Given the description of an element on the screen output the (x, y) to click on. 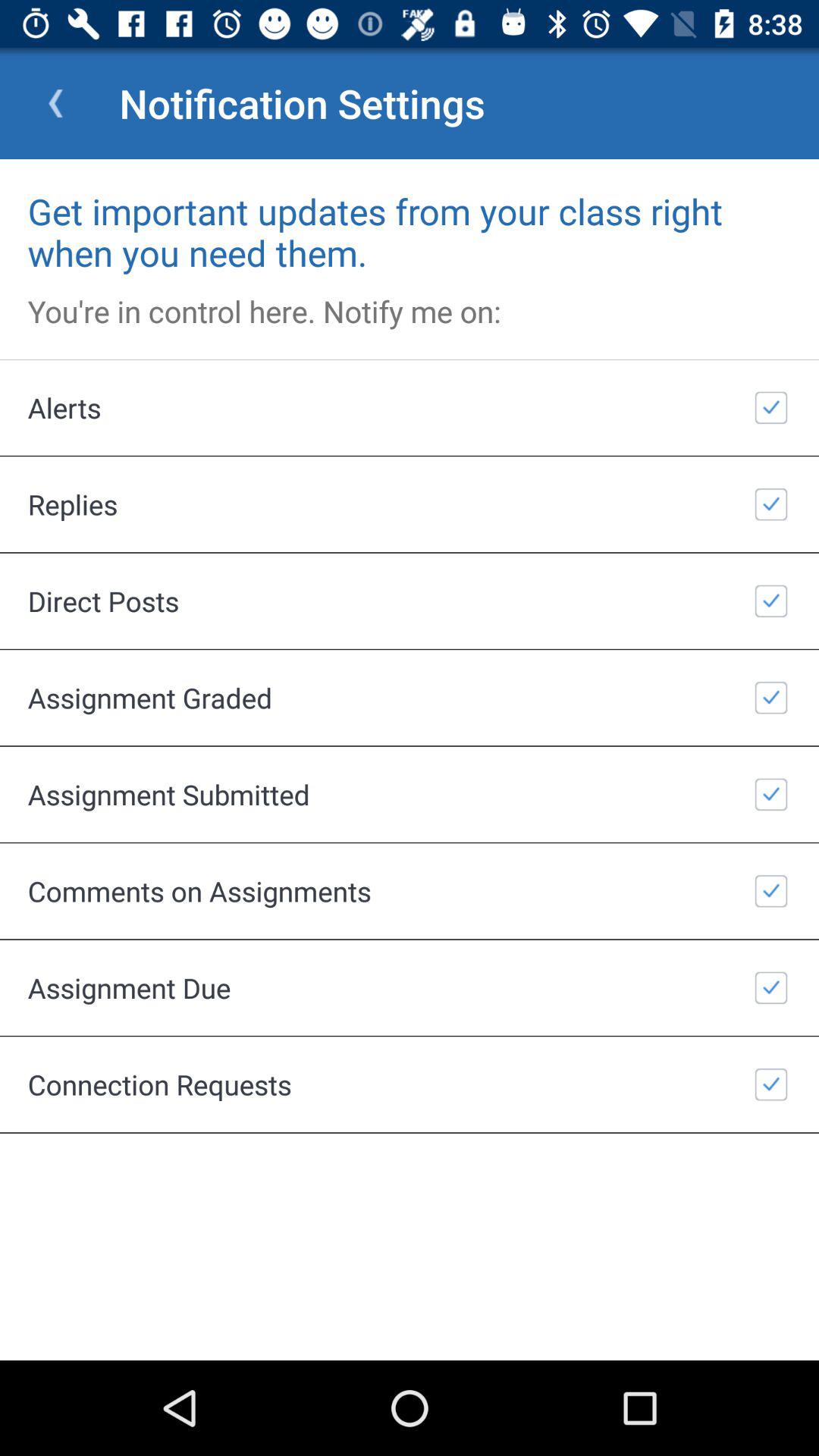
tap the item below the direct posts icon (409, 697)
